Given the description of an element on the screen output the (x, y) to click on. 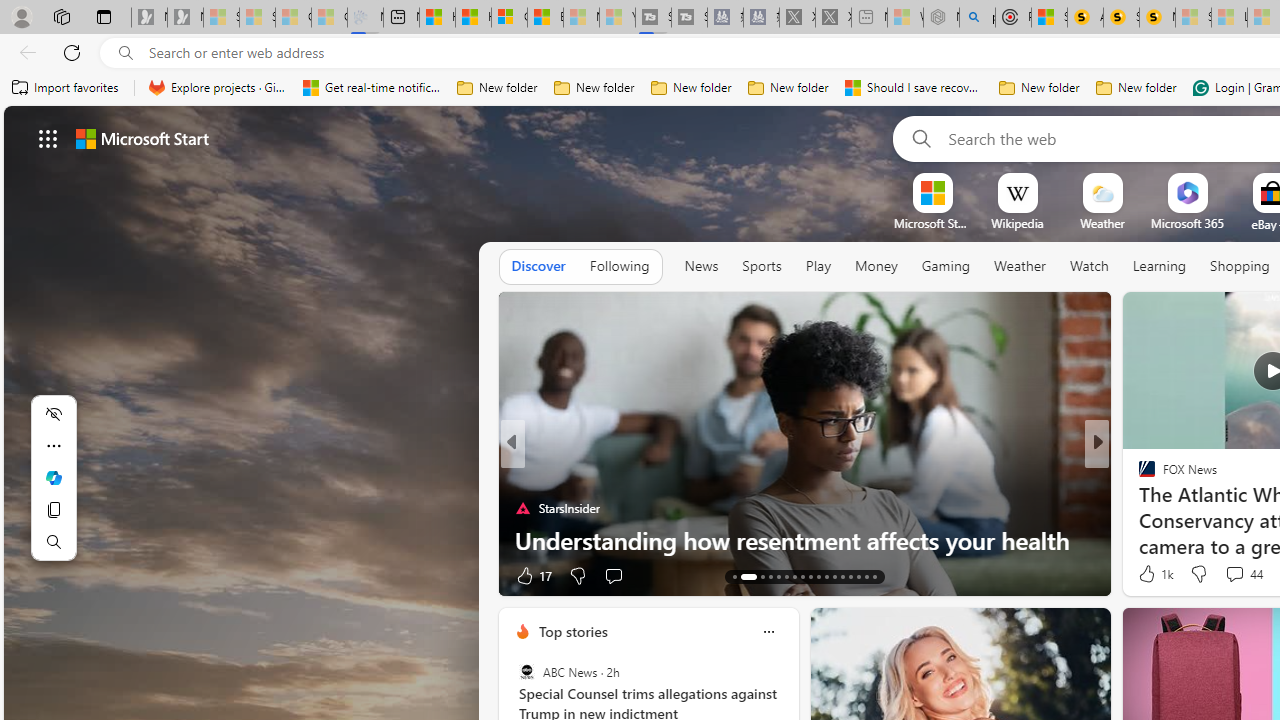
Search icon (125, 53)
46 Like (1149, 574)
AutomationID: tab-13 (733, 576)
Shopping (1240, 265)
39 Like (1149, 574)
Microsoft Start - Sleeping (581, 17)
Learning (1159, 265)
Forge of Empires (1175, 507)
Gaming (945, 267)
AutomationID: tab-22 (818, 576)
AutomationID: tab-17 (778, 576)
